Given the description of an element on the screen output the (x, y) to click on. 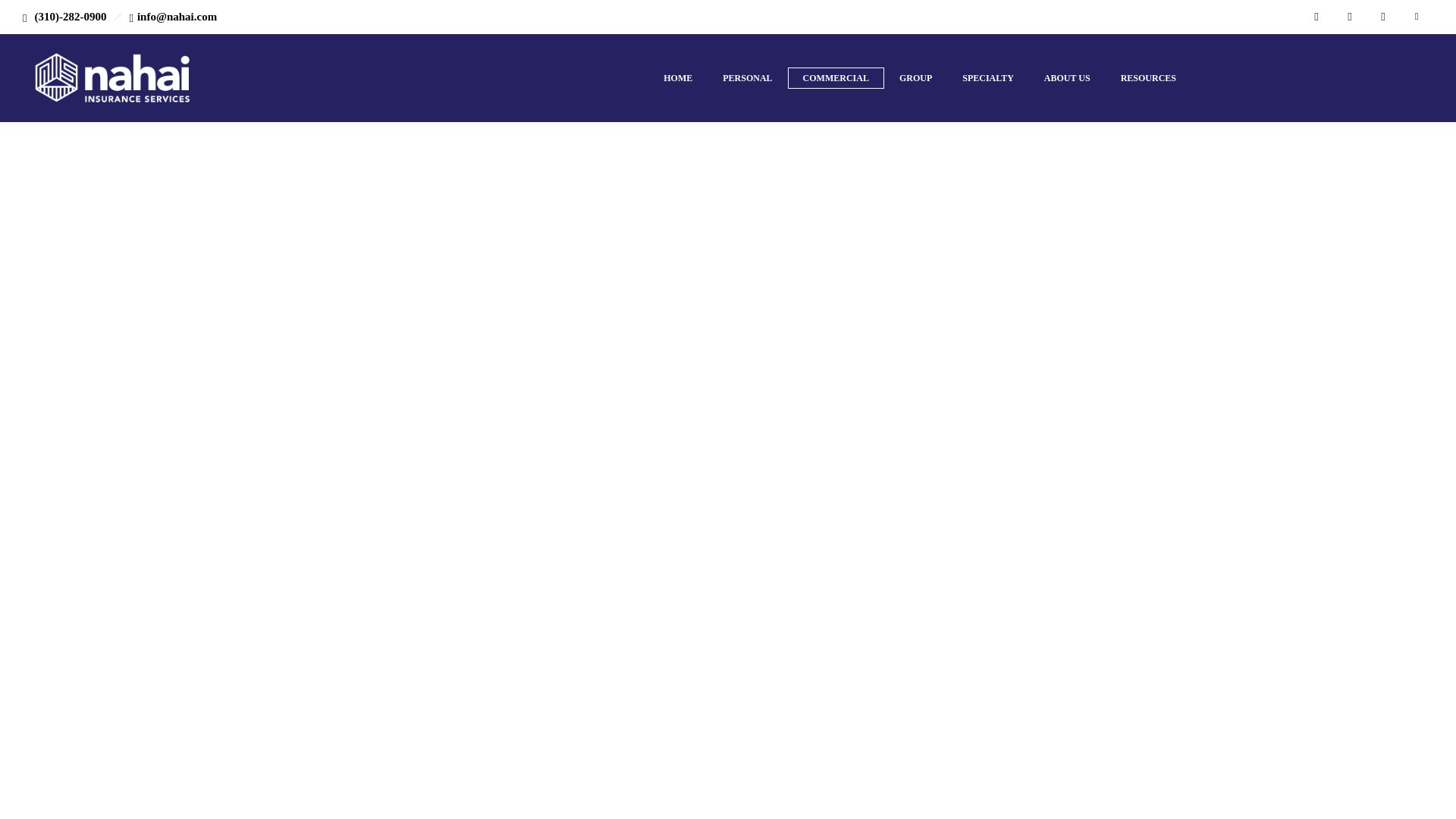
mail (1415, 16)
PERSONAL (747, 78)
Twitter (1383, 16)
COMMERCIAL (835, 78)
Facebook (1316, 16)
LinkedIN (1350, 16)
HOME (677, 78)
